Given the description of an element on the screen output the (x, y) to click on. 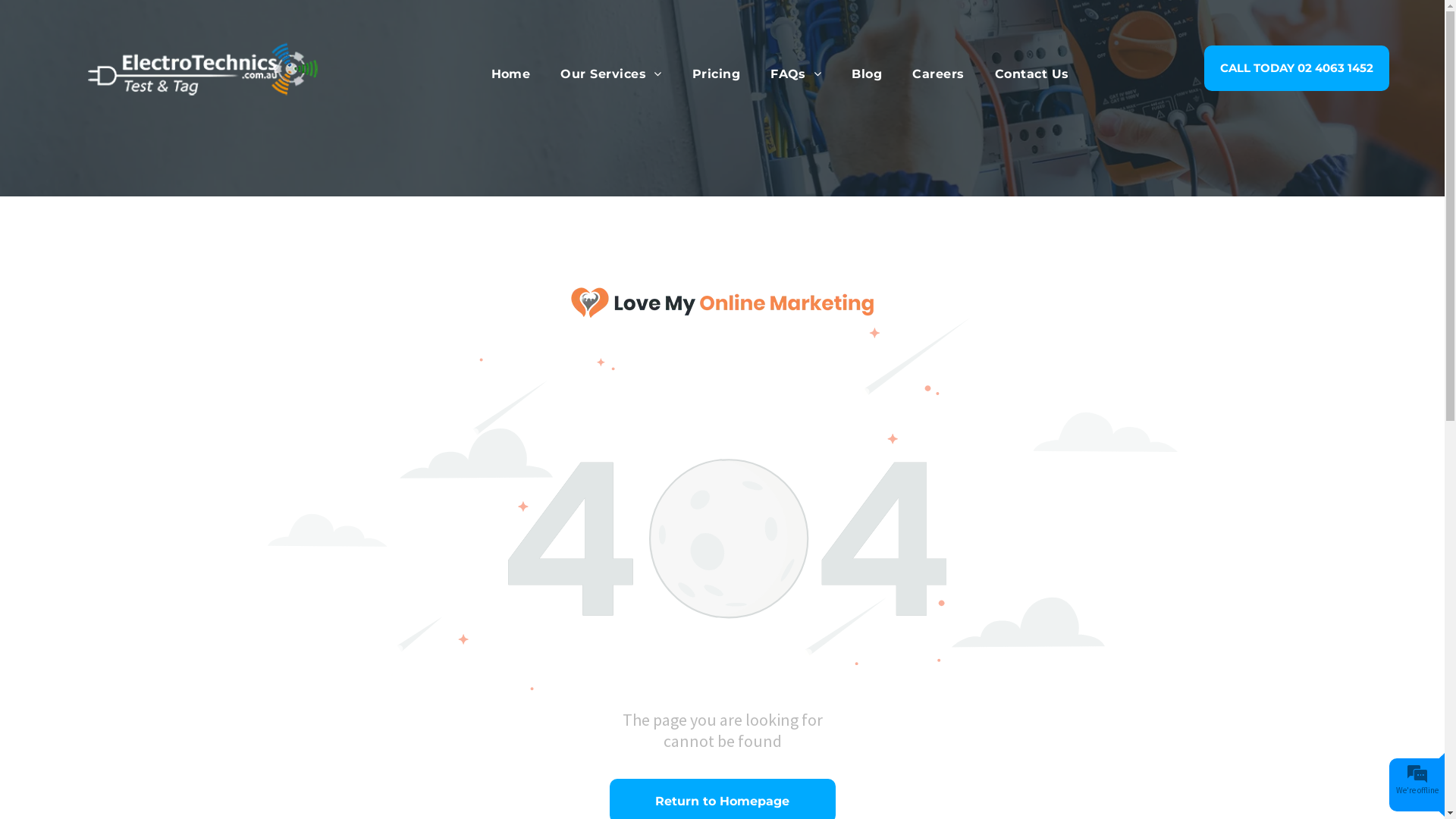
Pricing Element type: text (716, 74)
CALL TODAY 02 4063 1452 Element type: text (1296, 68)
Home Element type: text (511, 74)
Contact Us Element type: text (1031, 74)
Our Services Element type: text (610, 74)
Blog Element type: text (866, 74)
FAQs Element type: text (795, 74)
Careers Element type: text (938, 74)
